Given the description of an element on the screen output the (x, y) to click on. 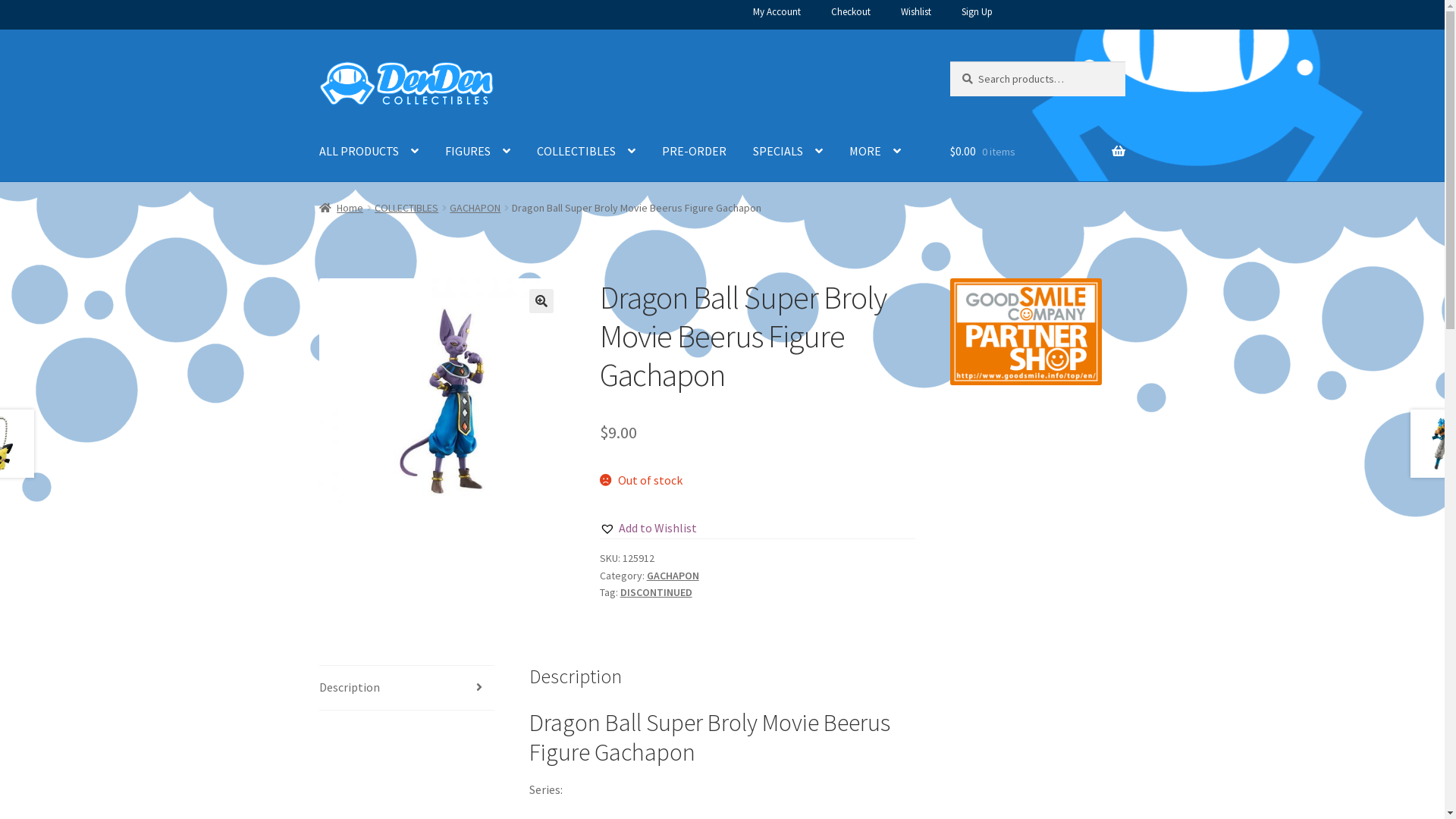
$0.00 0 items Element type: text (1037, 151)
Search Element type: text (949, 60)
125912-1 Element type: hover (441, 401)
Wishlist Element type: text (915, 13)
My Account Element type: text (776, 13)
PRE-ORDER Element type: text (693, 151)
Description Element type: text (406, 687)
Skip to navigation Element type: text (318, 60)
MORE Element type: text (875, 151)
Add to Wishlist Element type: text (647, 528)
COLLECTIBLES Element type: text (406, 207)
DISCONTINUED Element type: text (656, 592)
ALL PRODUCTS Element type: text (368, 151)
COLLECTIBLES Element type: text (585, 151)
GACHAPON Element type: text (474, 207)
FIGURES Element type: text (477, 151)
GACHAPON Element type: text (672, 575)
Sign Up Element type: text (976, 13)
Home Element type: text (341, 207)
SPECIALS Element type: text (787, 151)
Checkout Element type: text (850, 13)
